Given the description of an element on the screen output the (x, y) to click on. 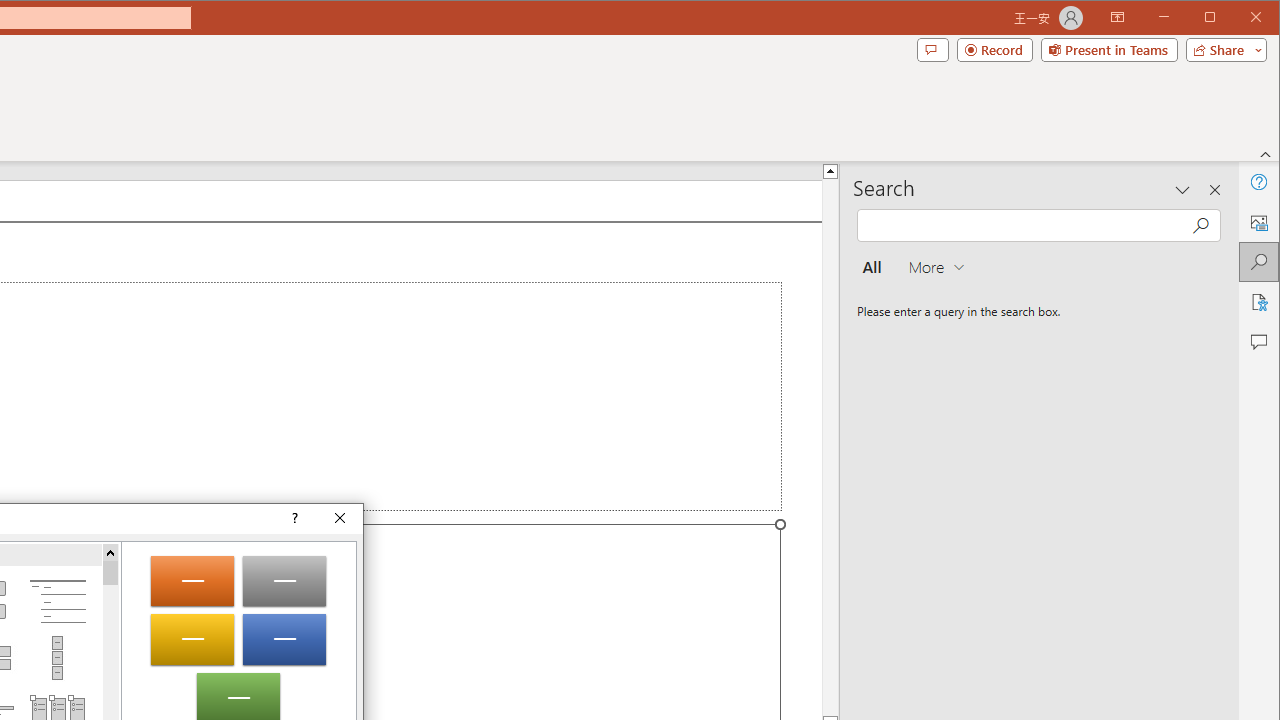
Context help (293, 518)
Alt Text (1258, 221)
Varying Width List (57, 658)
Maximize (1238, 18)
